Given the description of an element on the screen output the (x, y) to click on. 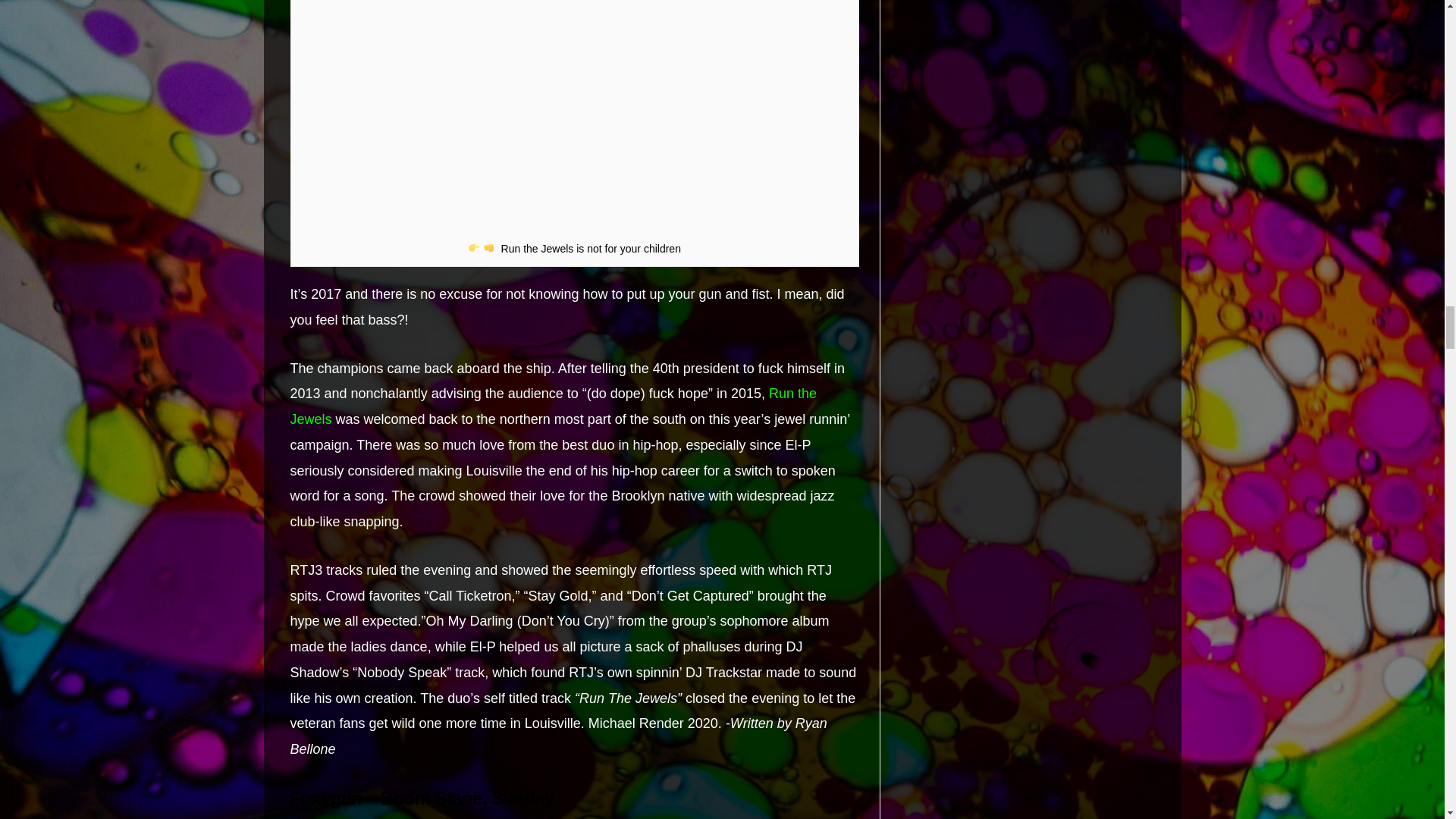
Run the Jewels (552, 405)
